Given the description of an element on the screen output the (x, y) to click on. 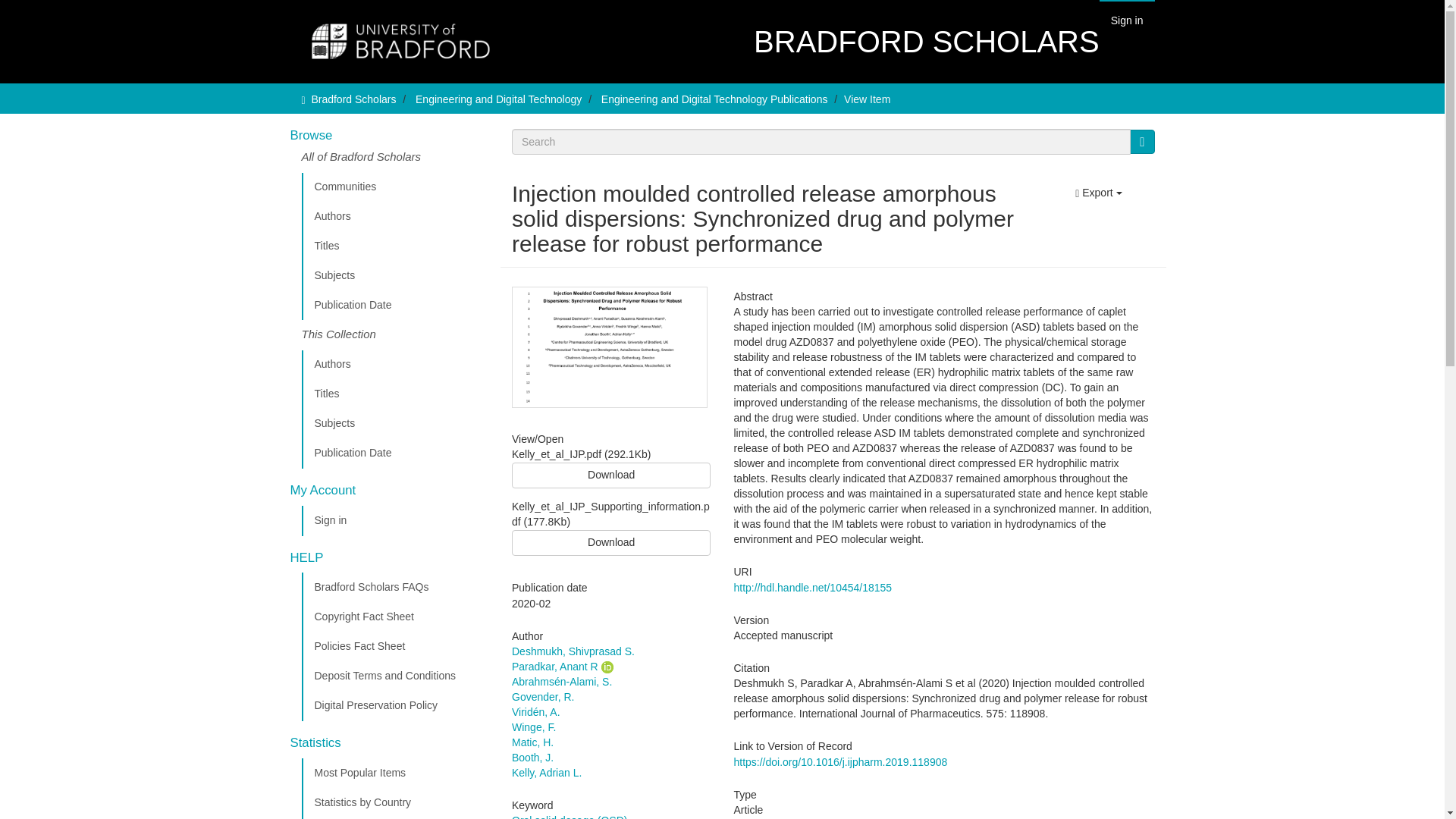
Export (1098, 192)
Publication Date (395, 453)
Digital Preservation Policy (395, 706)
Copyright Fact Sheet (395, 616)
Engineering and Digital Technology Publications (714, 99)
Subjects (395, 423)
Policies Fact Sheet (395, 646)
Sign in (395, 521)
Titles (395, 245)
